Given the description of an element on the screen output the (x, y) to click on. 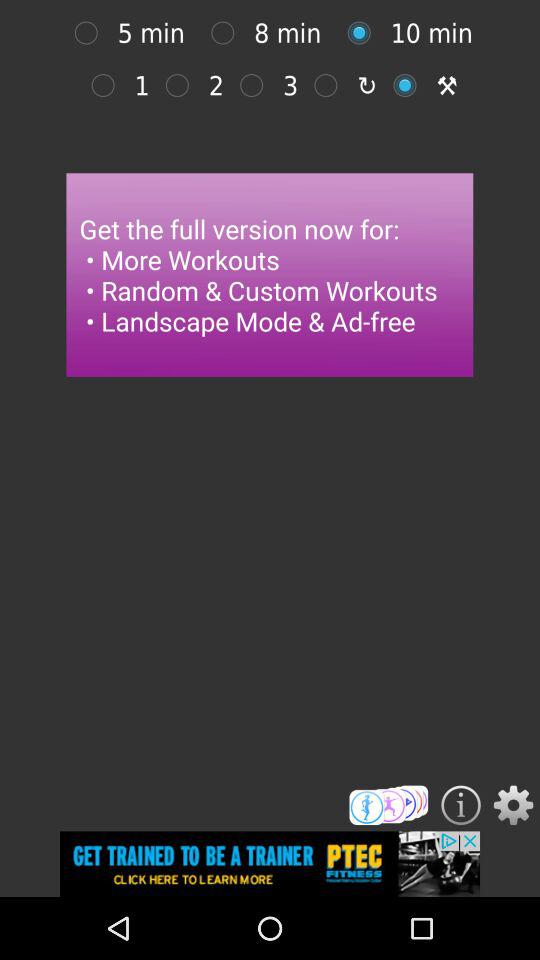
open option menu (513, 805)
